Given the description of an element on the screen output the (x, y) to click on. 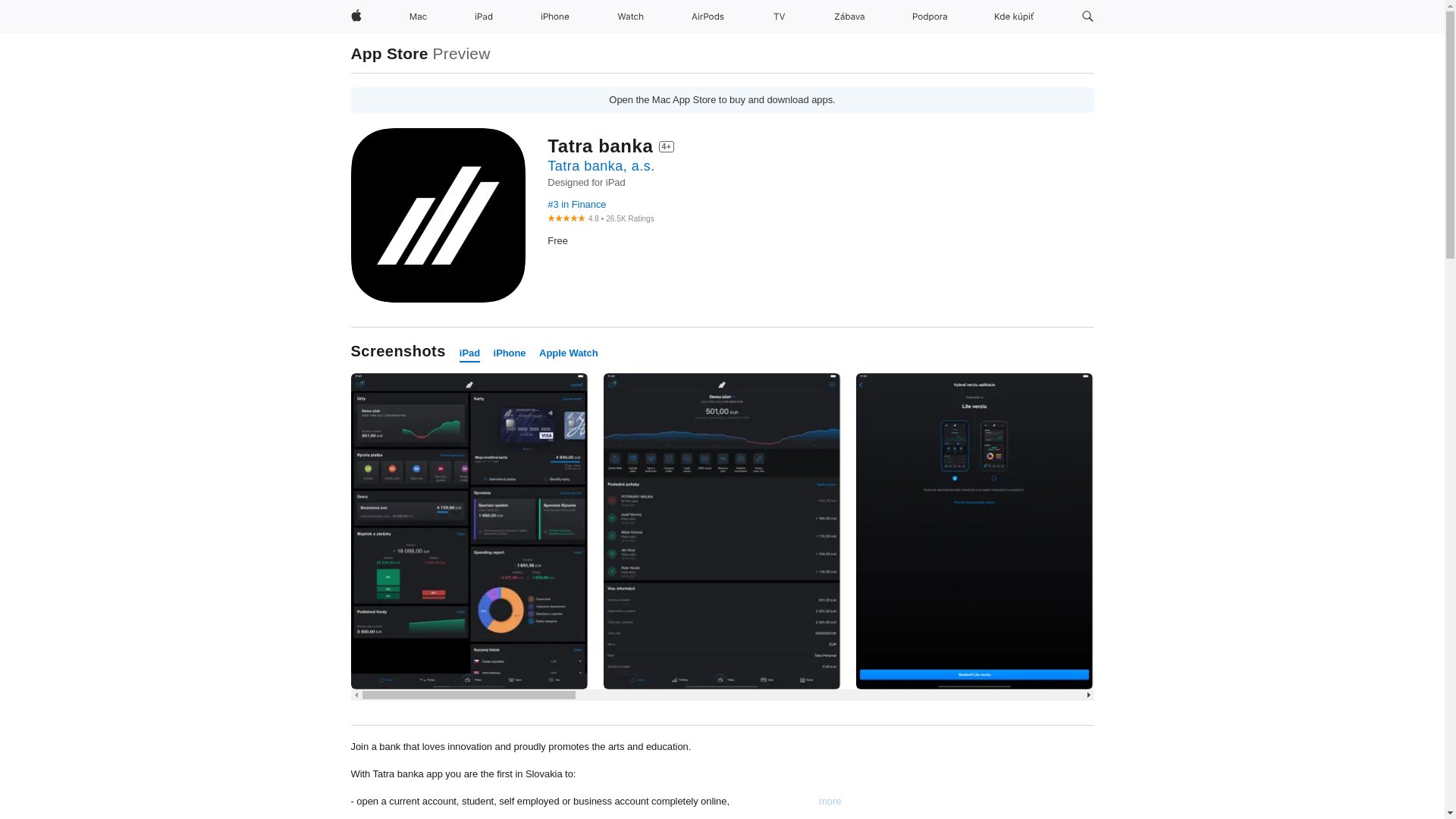
Apple Watch (568, 353)
AirPods (707, 16)
iPhone (554, 16)
Tatra banka, a.s. (600, 165)
iPad (470, 353)
Watch (630, 16)
iPad (483, 16)
App Store (389, 53)
more (829, 801)
iPhone (509, 353)
Podpora (930, 16)
